Given the description of an element on the screen output the (x, y) to click on. 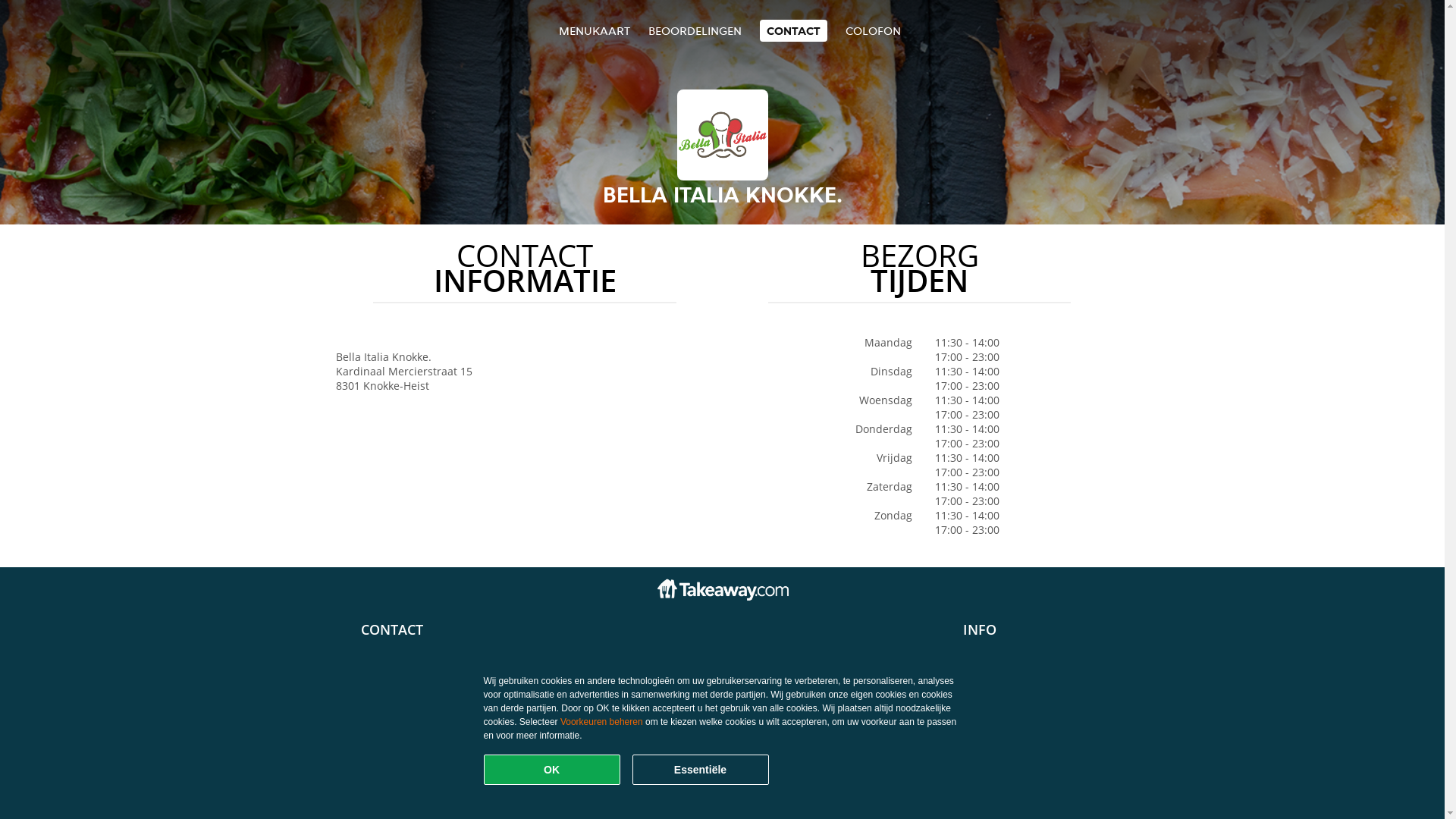
OK Element type: text (551, 769)
Cookieverklaring Element type: text (1005, 674)
COLOFON Element type: text (872, 30)
Privacy statement Element type: text (1008, 659)
BEOORDELINGEN Element type: text (694, 30)
Algemene voorwaarden Element type: text (1023, 645)
MENUKAART Element type: text (594, 30)
Voorkeuren beheren Element type: text (601, 721)
Colofon Element type: text (982, 688)
CONTACT Element type: text (793, 30)
